Given the description of an element on the screen output the (x, y) to click on. 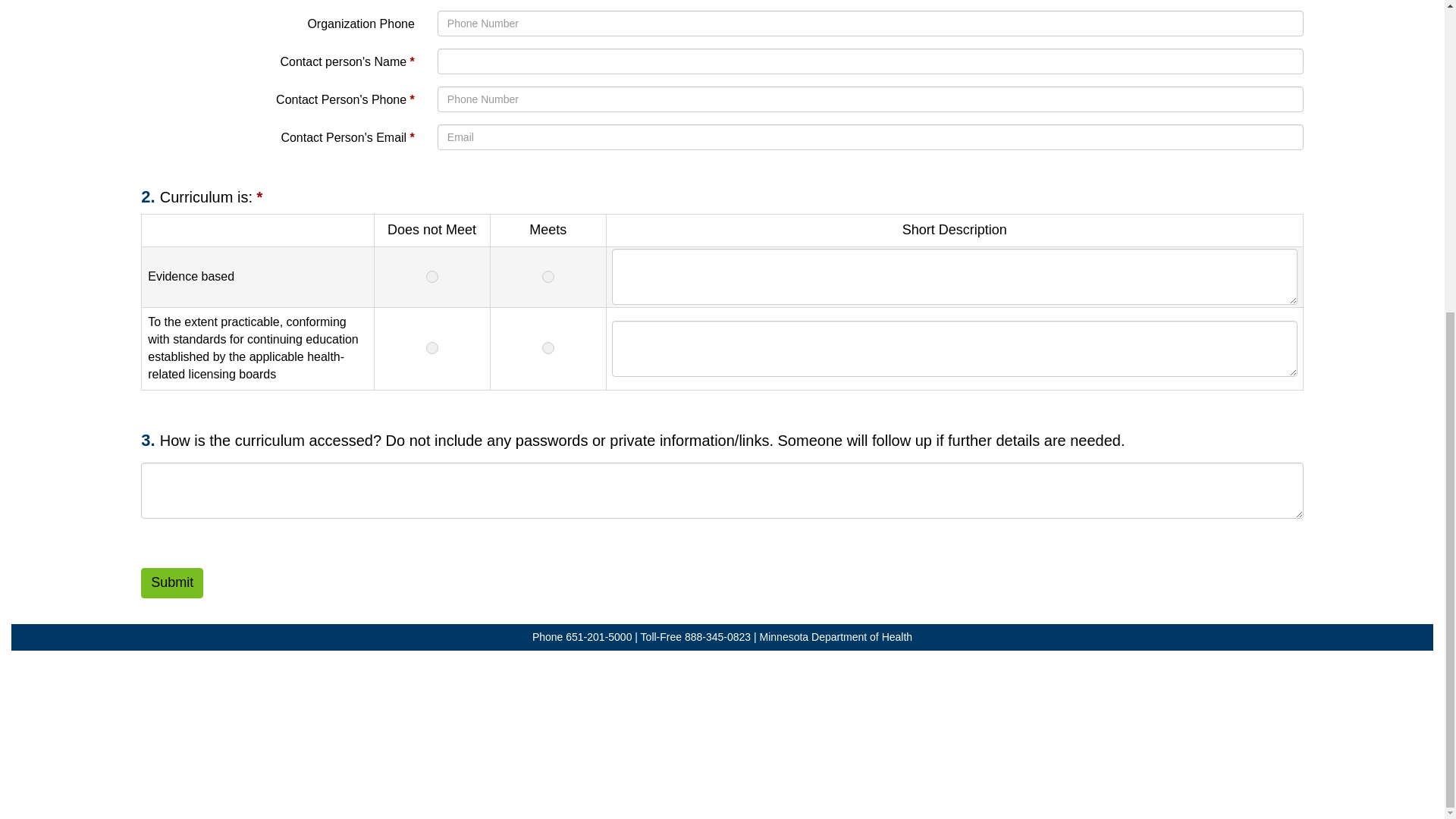
Evidence based (954, 276)
Evidence based Meets (547, 276)
3. (149, 439)
Submit (172, 583)
Minnesota Department of Health (836, 636)
Evidence based Does not Meet (431, 276)
Submit (172, 583)
